Given the description of an element on the screen output the (x, y) to click on. 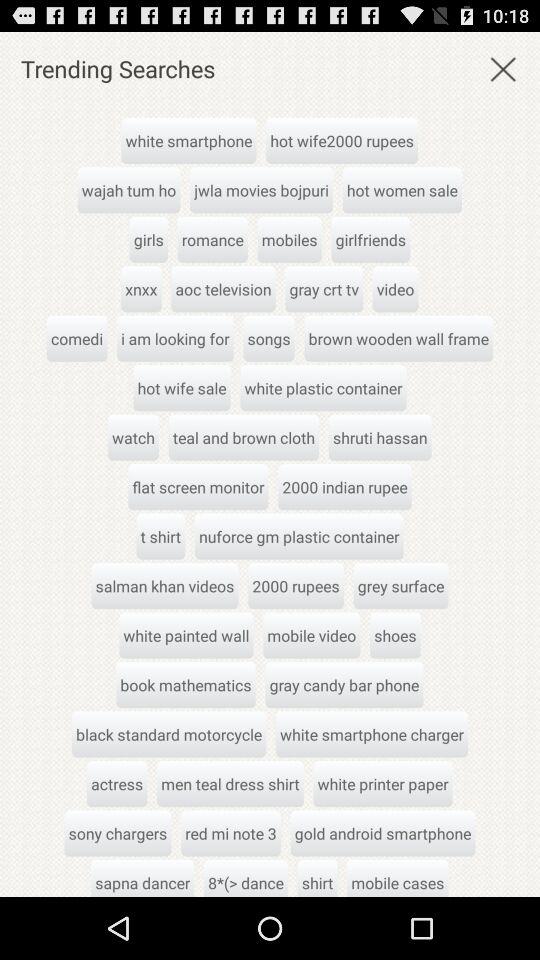
exit (503, 68)
